Given the description of an element on the screen output the (x, y) to click on. 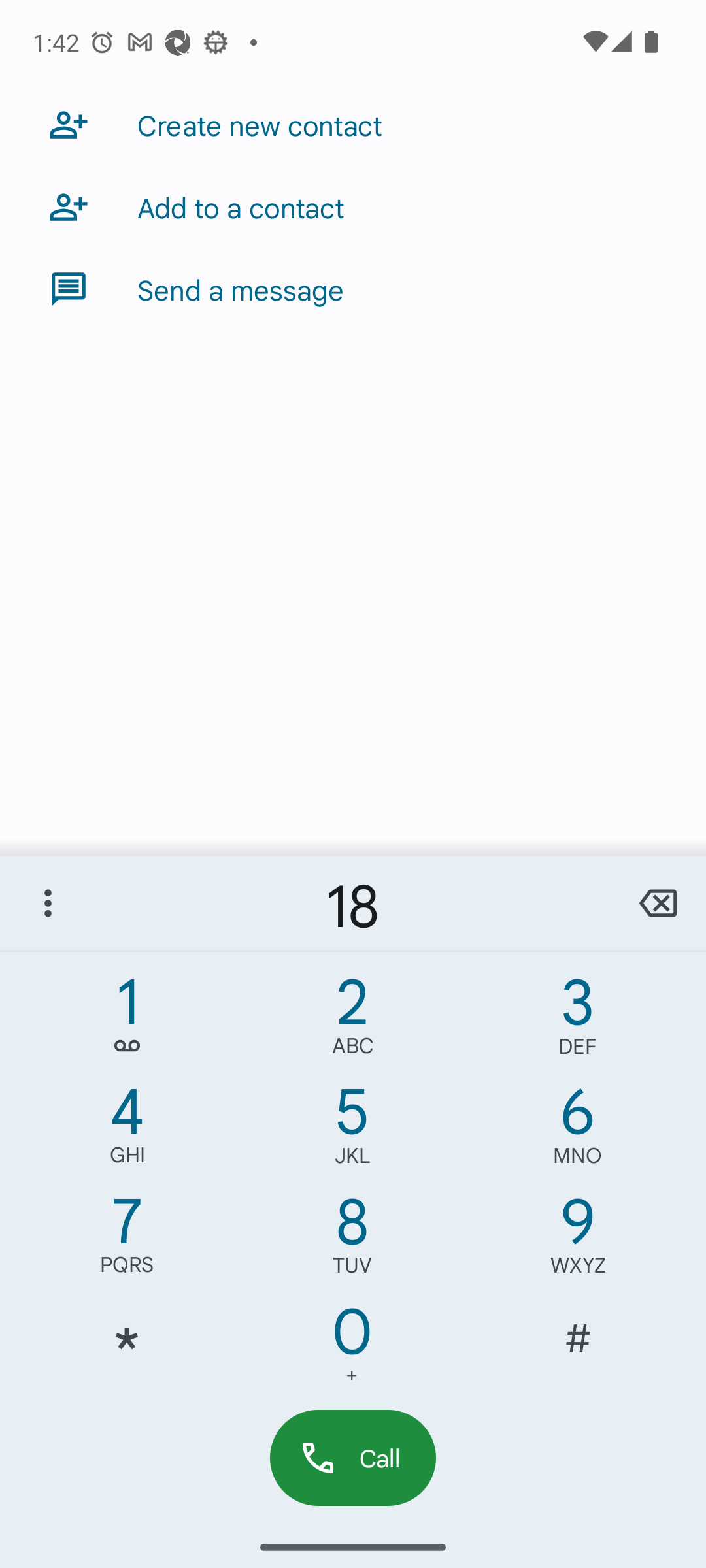
Create new contact (353, 124)
Add to a contact (353, 206)
Send a message (353, 288)
More options (48, 903)
18 (352, 903)
backspace (657, 903)
1, 1 (127, 1020)
2,ABC 2 ABC (352, 1020)
3,DEF 3 DEF (578, 1020)
4,GHI 4 GHI (127, 1130)
5,JKL 5 JKL (352, 1130)
6,MNO 6 MNO (578, 1130)
7,PQRS 7 PQRS (127, 1240)
8,TUV 8 TUV (352, 1240)
9,WXYZ 9 WXYZ (578, 1240)
* (127, 1349)
0 0 + (352, 1349)
# (578, 1349)
Call dial (352, 1457)
